Given the description of an element on the screen output the (x, y) to click on. 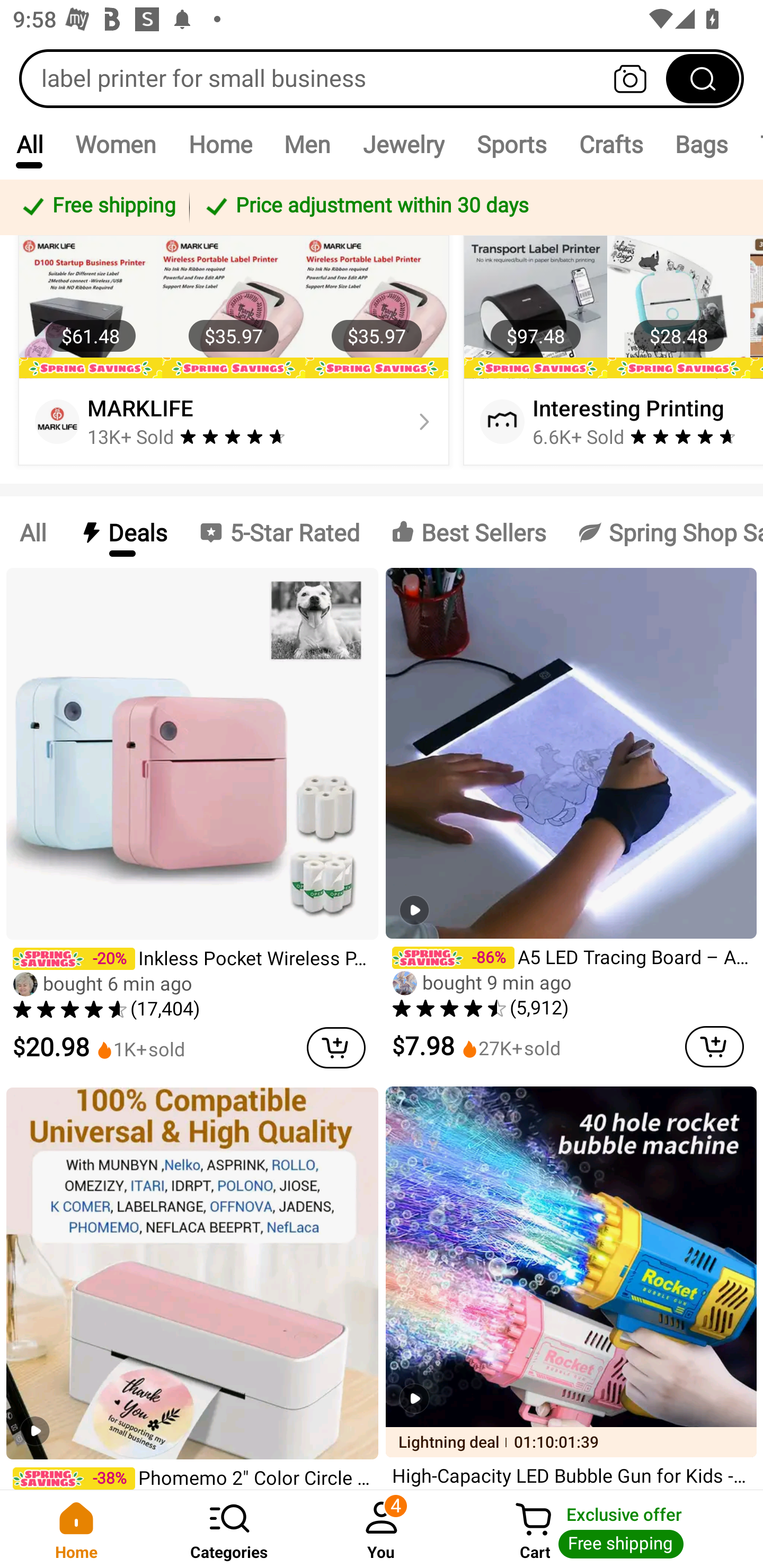
label printer for small business (381, 78)
All (29, 144)
Women (115, 144)
Home (219, 144)
Men (306, 144)
Jewelry (403, 144)
Sports (511, 144)
Crafts (611, 144)
Bags (701, 144)
Free shipping (97, 206)
Price adjustment within 30 days (472, 206)
$61.48 $35.97 $35.97 MARKLIFE 13K+ Sold (233, 349)
$97.48 $28.48 Interesting Printing 6.6K+ Sold (610, 349)
All (32, 532)
Deals Deals Deals (122, 532)
5-Star Rated 5-Star Rated 5-Star Rated (279, 532)
Best Sellers Best Sellers Best Sellers (468, 532)
Spring Shop Save Spring Shop Save Spring Shop Save (662, 532)
cart delete (335, 1047)
Home (76, 1528)
Categories (228, 1528)
You 4 You (381, 1528)
Cart Cart Exclusive offer (610, 1528)
